Given the description of an element on the screen output the (x, y) to click on. 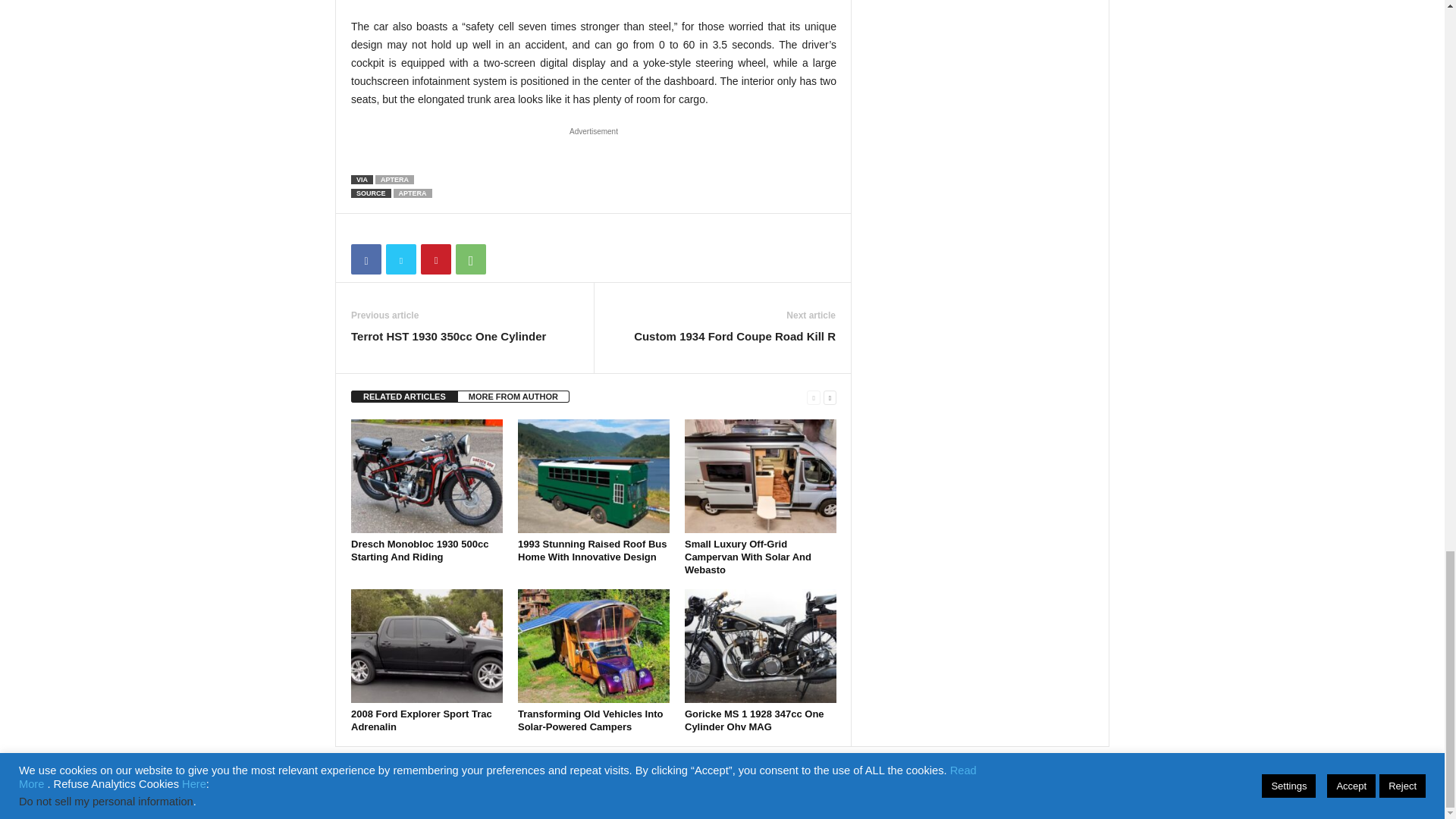
Facebook (365, 259)
Terrot HST 1930 350cc One Cylinder (448, 335)
Twitter (400, 259)
bottomFacebookLike (390, 229)
Custom 1934 Ford Coupe Road Kill R (734, 335)
APTERA (412, 193)
APTERA (394, 179)
